Given the description of an element on the screen output the (x, y) to click on. 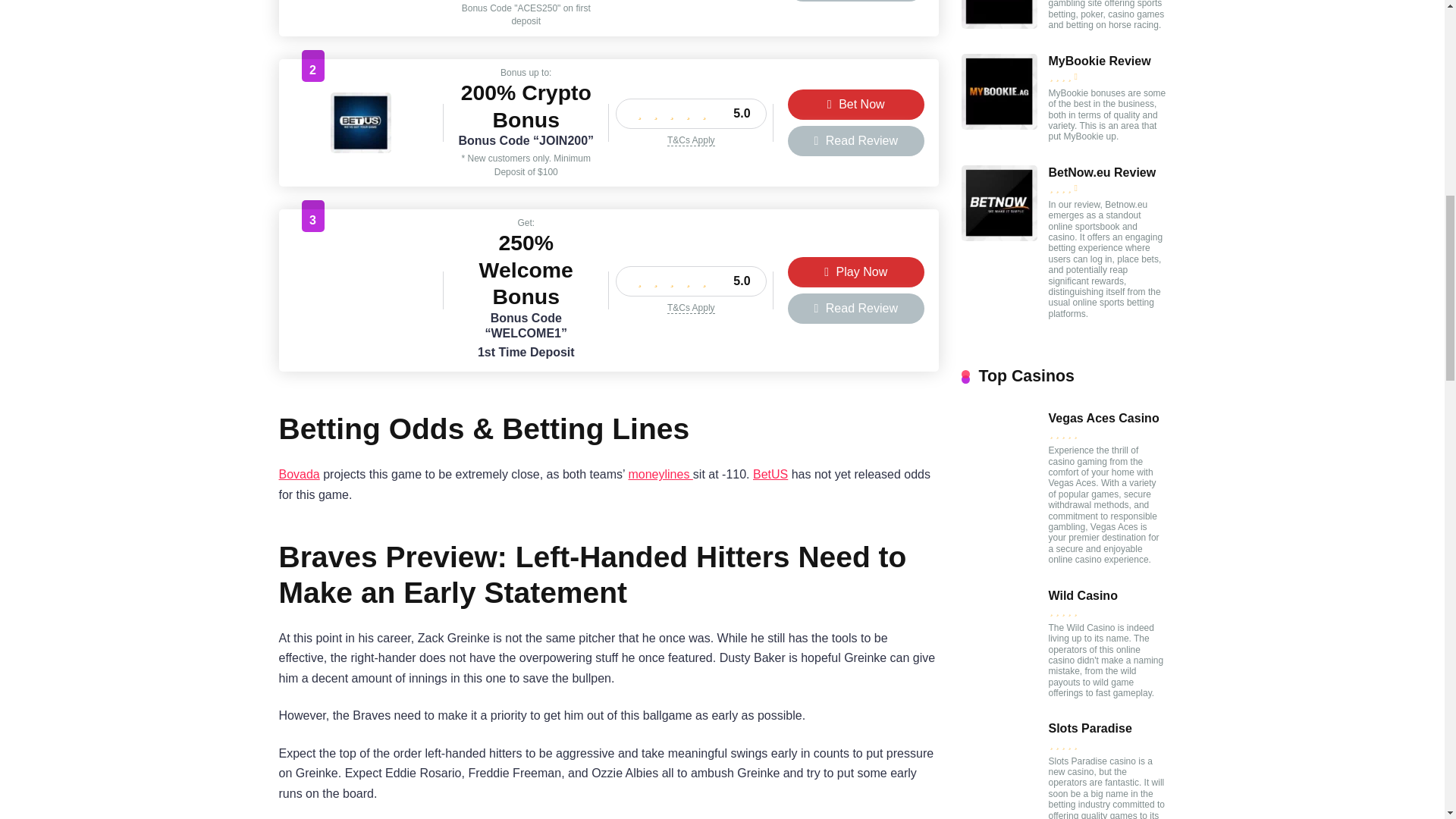
BetUS Review (360, 148)
Vegas Aces Casino (360, 0)
Read Review (855, 0)
Slots Paradise (360, 316)
Play Now (855, 272)
Read Review (855, 141)
Bet Now (855, 104)
Read Review (855, 308)
